Given the description of an element on the screen output the (x, y) to click on. 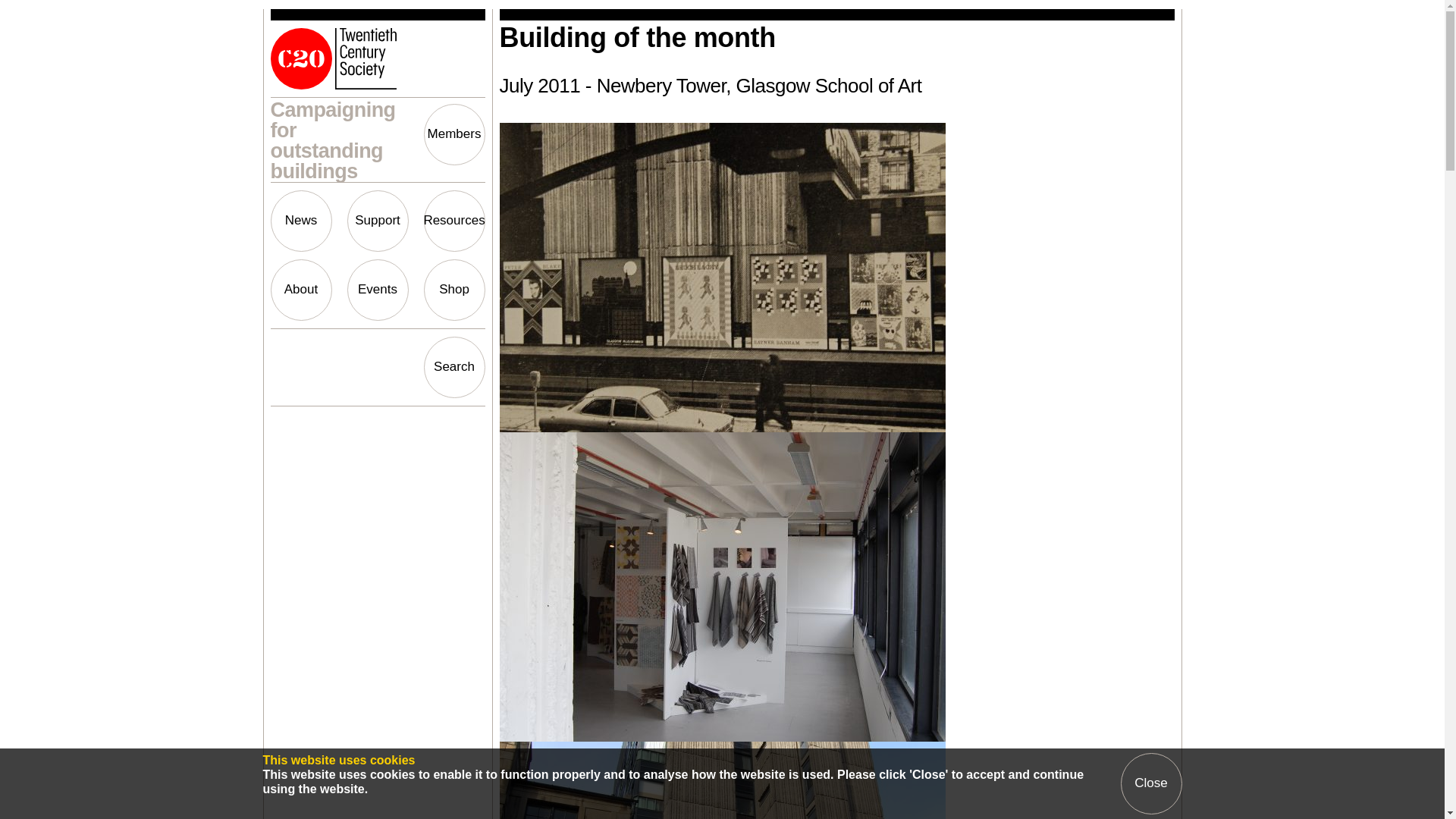
Support (378, 220)
News (300, 220)
Shop (453, 290)
About (300, 290)
Resources (453, 220)
Members (453, 134)
Events (378, 290)
